Given the description of an element on the screen output the (x, y) to click on. 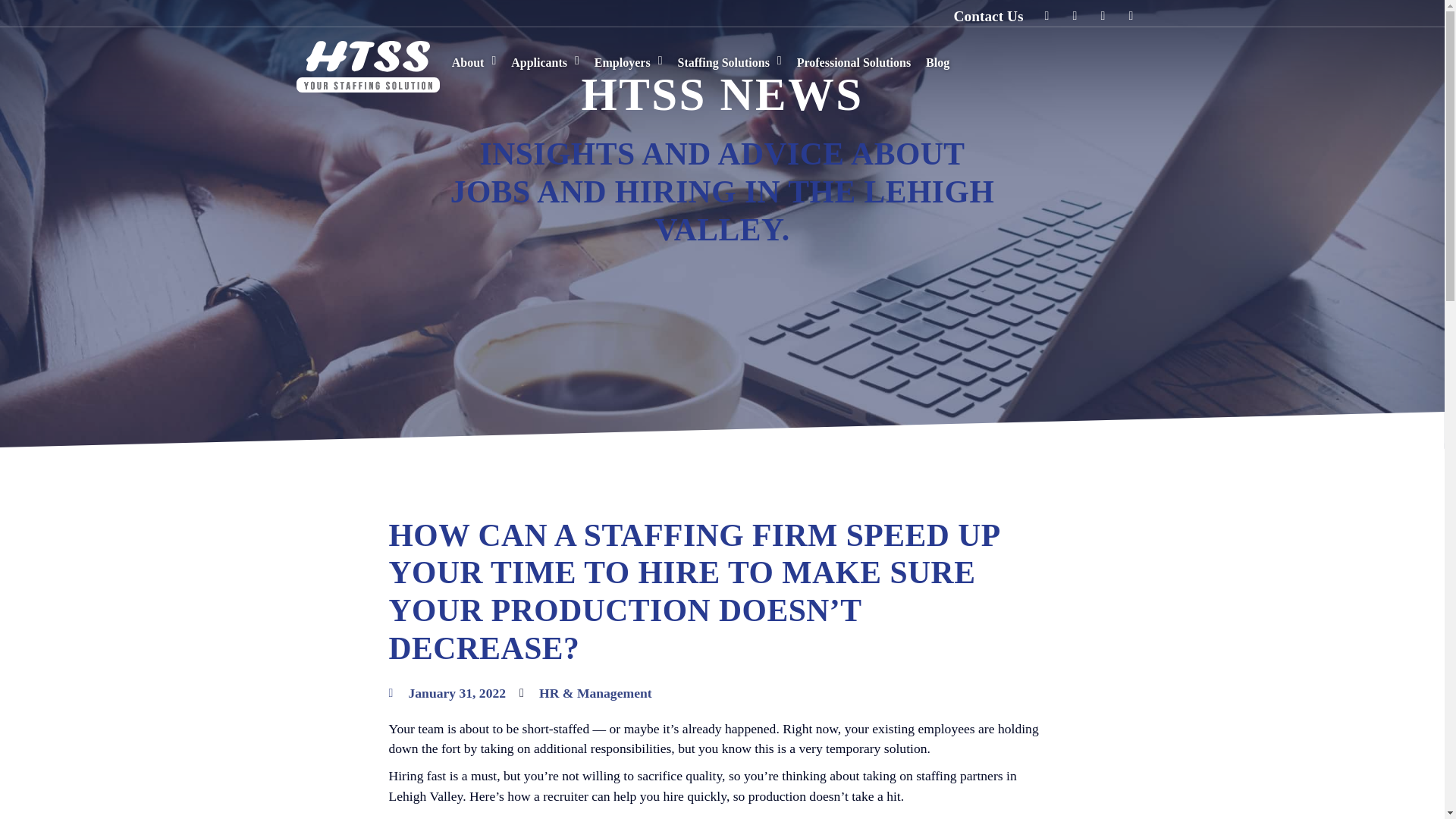
Applicants (545, 61)
About (473, 55)
Blog (937, 63)
Employers (628, 63)
Professional Solutions (853, 63)
Staffing Solutions (729, 63)
